Given the description of an element on the screen output the (x, y) to click on. 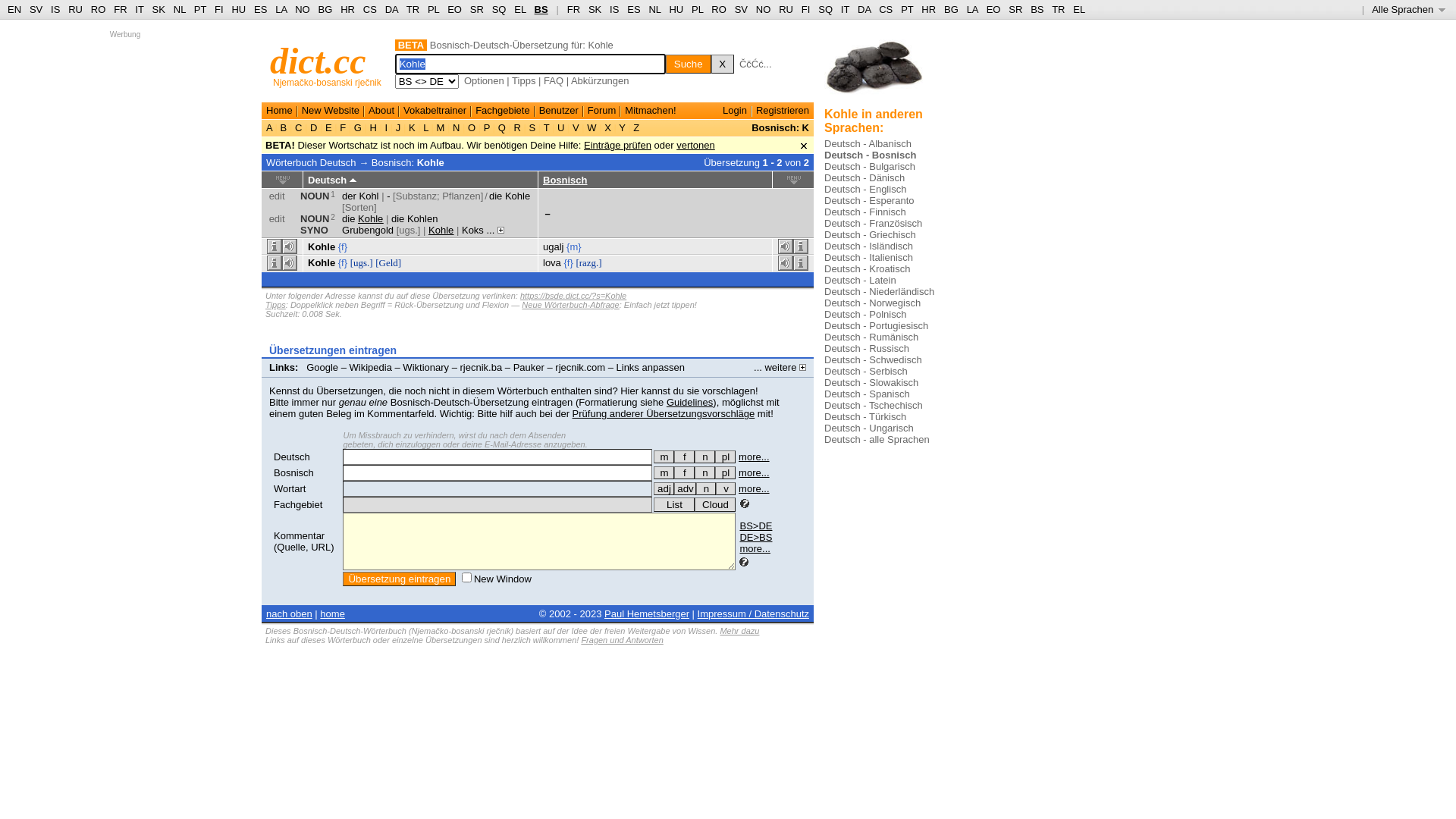
BS>DE Element type: text (755, 525)
LA Element type: text (972, 9)
black carbon on a pile isolated ... Element type: hover (875, 68)
FI Element type: text (805, 9)
srednji rod Element type: hover (704, 472)
P Element type: text (486, 127)
IT Element type: text (844, 9)
RU Element type: text (785, 9)
Forum Element type: text (601, 110)
PT Element type: text (906, 9)
ES Element type: text (260, 9)
Kohle Element type: text (321, 246)
more... Element type: text (754, 548)
dict.cc Element type: text (317, 60)
EO Element type: text (993, 9)
Koks Element type: text (472, 229)
EO Element type: text (454, 9)
pl Element type: text (725, 456)
BG Element type: text (951, 9)
B Element type: text (283, 127)
Optionen Element type: text (484, 80)
Deutsch - Italienisch Element type: text (868, 257)
Vokabeltrainer Element type: text (434, 110)
Y Element type: text (621, 127)
die Kohle Element type: text (362, 218)
NO Element type: text (763, 9)
Z Element type: text (636, 127)
pl Element type: text (725, 472)
About Element type: text (381, 110)
Suche Element type: text (688, 63)
EN Element type: text (14, 9)
n Element type: text (704, 472)
X Element type: text (608, 127)
Kohle Element type: text (321, 262)
FR Element type: text (573, 9)
adj Element type: text (663, 488)
Deutsch - Schwedisch Element type: text (873, 359)
DA Element type: text (391, 9)
Deutsch - alle Sprachen Element type: text (876, 439)
more... Element type: text (753, 472)
FR Element type: text (119, 9)
ugalj Element type: text (552, 246)
S Element type: text (532, 127)
Wiktionary Element type: text (425, 367)
die - Mehrzahl (Plural) Element type: hover (725, 456)
M Element type: text (440, 127)
IT Element type: text (138, 9)
G Element type: text (357, 127)
adv Element type: text (685, 488)
EL Element type: text (1079, 9)
New Website Element type: text (330, 110)
PL Element type: text (696, 9)
https://bsde.dict.cc/?s=Kohle Element type: text (573, 295)
Cloud Element type: text (714, 504)
SQ Element type: text (499, 9)
BS Element type: text (1036, 9)
Deutsch - Kroatisch Element type: text (867, 268)
HR Element type: text (347, 9)
HU Element type: text (238, 9)
Home Element type: text (279, 110)
SQ Element type: text (825, 9)
Tipps Element type: text (275, 304)
f Element type: text (684, 472)
LA Element type: text (280, 9)
Deutsch - Polnisch Element type: text (865, 314)
O Element type: text (470, 127)
n Element type: text (705, 488)
die - weiblich (Femininum) Element type: hover (684, 456)
die Kohlen Element type: text (414, 218)
Deutsch - Ungarisch Element type: text (868, 427)
Deutsch - Spanisch Element type: text (867, 393)
C Element type: text (297, 127)
NO Element type: text (302, 9)
Deutsch - Latein Element type: text (860, 279)
Kohle Element type: text (430, 161)
Pauker Element type: text (528, 367)
Deutsch - Bulgarisch Element type: text (869, 166)
Impressum / Datenschutz Element type: text (753, 613)
Links anpassen Element type: text (650, 367)
RU Element type: text (75, 9)
R Element type: text (517, 127)
EL Element type: text (519, 9)
nach oben Element type: text (289, 613)
SV Element type: text (740, 9)
...  Element type: text (495, 229)
J Element type: text (397, 127)
RO Element type: text (718, 9)
Fachgebiete Element type: text (502, 110)
der Kohl Element type: text (360, 195)
BG Element type: text (325, 9)
[Geld] Element type: text (388, 262)
Deutsch - Griechisch Element type: text (870, 234)
edit Element type: text (277, 195)
Paul Hemetsberger Element type: text (646, 613)
lova Element type: text (551, 262)
die Kohle [Sorten] Element type: text (436, 201)
SK Element type: text (594, 9)
Deutsch - Esperanto Element type: text (869, 200)
IS Element type: text (54, 9)
more... Element type: text (753, 456)
Deutsch - Russisch Element type: text (866, 348)
W Element type: text (591, 127)
rjecnik.ba Element type: text (481, 367)
[ugs.] Element type: text (361, 262)
E Element type: text (328, 127)
Benutzer Element type: text (558, 110)
Fragen und Antworten Element type: text (621, 639)
n Element type: text (704, 456)
more... Element type: text (753, 488)
K Element type: text (411, 127)
DE>BS Element type: text (755, 536)
IS Element type: text (613, 9)
edit Element type: text (277, 218)
T Element type: text (546, 127)
CS Element type: text (369, 9)
home Element type: text (332, 613)
N Element type: text (455, 127)
Wikipedia Element type: text (370, 367)
F Element type: text (342, 127)
Q Element type: text (501, 127)
vertonen Element type: text (695, 144)
Deutsch - Englisch Element type: text (865, 188)
Deutsch - Tschechisch Element type: text (873, 405)
FI Element type: text (218, 9)
TR Element type: text (1057, 9)
Bosnisch: K Element type: text (780, 127)
Mitmachen! Element type: text (649, 110)
HR Element type: text (928, 9)
Tipps Element type: text (523, 80)
V Element type: text (575, 127)
DA Element type: text (863, 9)
Mehr dazu Element type: text (739, 630)
m Element type: text (663, 472)
NL Element type: text (654, 9)
Bosnisch Element type: text (293, 472)
Deutsch - Albanisch Element type: text (867, 143)
m Element type: text (663, 456)
I Element type: text (386, 127)
Deutsch - Serbisch Element type: text (865, 370)
Deutsch Element type: text (291, 456)
[razg.] Element type: text (588, 262)
BS Element type: text (541, 9)
L Element type: text (425, 127)
SK Element type: text (158, 9)
Login Element type: text (734, 110)
CS Element type: text (885, 9)
... weitere Element type: text (779, 367)
NL Element type: text (179, 9)
v Element type: text (725, 488)
Deutsch - Portugiesisch Element type: text (876, 325)
Deutsch - Finnisch Element type: text (865, 211)
SV Element type: text (35, 9)
- [Substanz; Pflanzen] Element type: text (434, 195)
ES Element type: text (633, 9)
X Element type: text (722, 63)
FAQ Element type: text (553, 80)
PL Element type: text (433, 9)
SR Element type: text (476, 9)
A Element type: text (270, 127)
U Element type: text (560, 127)
f Element type: text (684, 456)
Guidelines Element type: text (689, 401)
SR Element type: text (1015, 9)
Deutsch - Norwegisch Element type: text (872, 302)
D Element type: text (313, 127)
Alle Sprachen  Element type: text (1408, 9)
HU Element type: text (675, 9)
RO Element type: text (98, 9)
Deutsch - Slowakisch Element type: text (871, 382)
PT Element type: text (200, 9)
rjecnik.com Element type: text (580, 367)
Deutsch - Bosnisch Element type: text (870, 154)
Grubengold [ugs.] Element type: text (381, 229)
H Element type: text (373, 127)
Kohle Element type: text (440, 229)
Google Element type: text (322, 367)
TR Element type: text (412, 9)
List Element type: text (673, 504)
Bosnisch Element type: text (564, 179)
Registrieren Element type: text (782, 110)
